Given the description of an element on the screen output the (x, y) to click on. 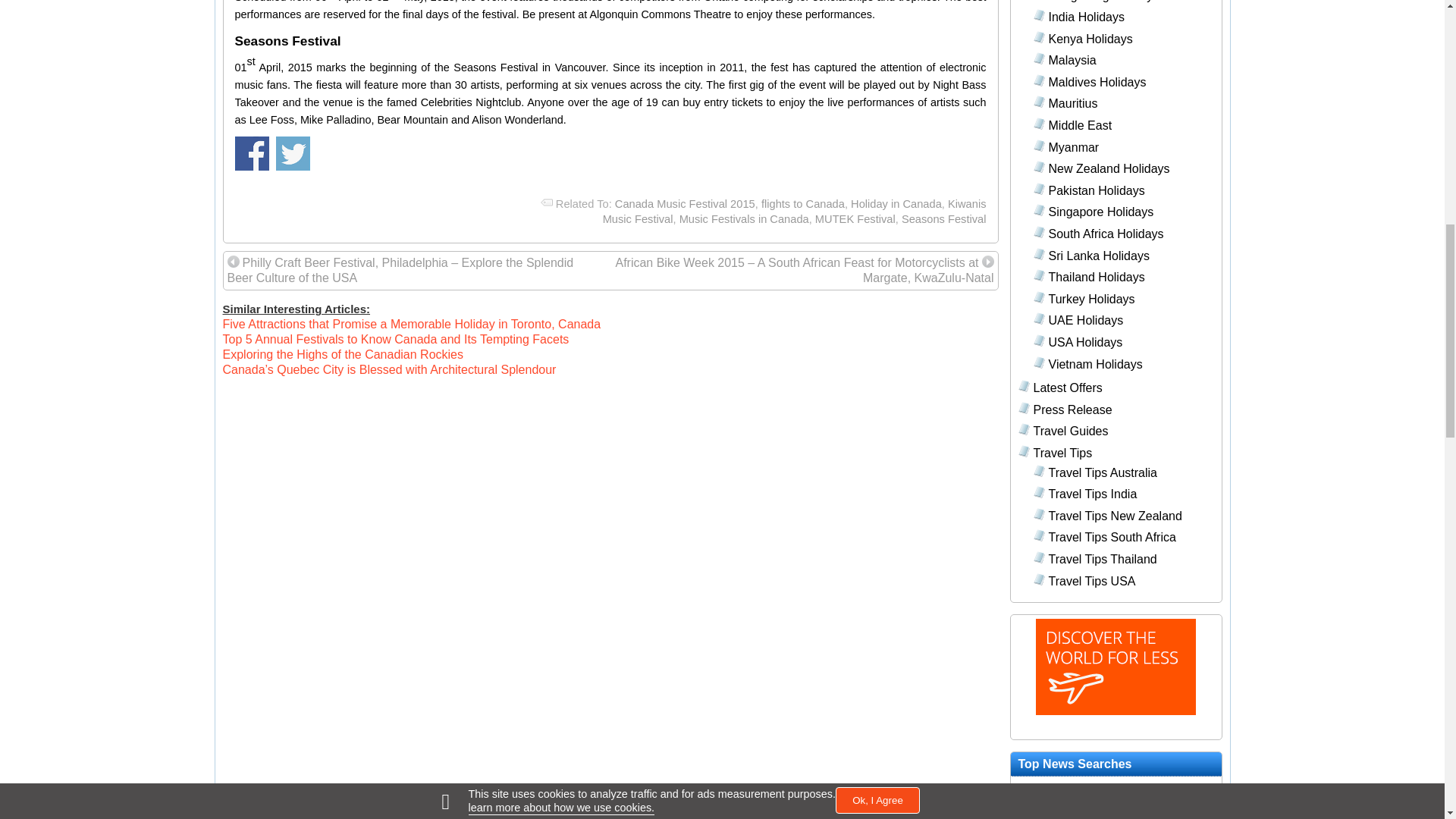
Exploring the Highs of the Canadian Rockies (343, 354)
